Given the description of an element on the screen output the (x, y) to click on. 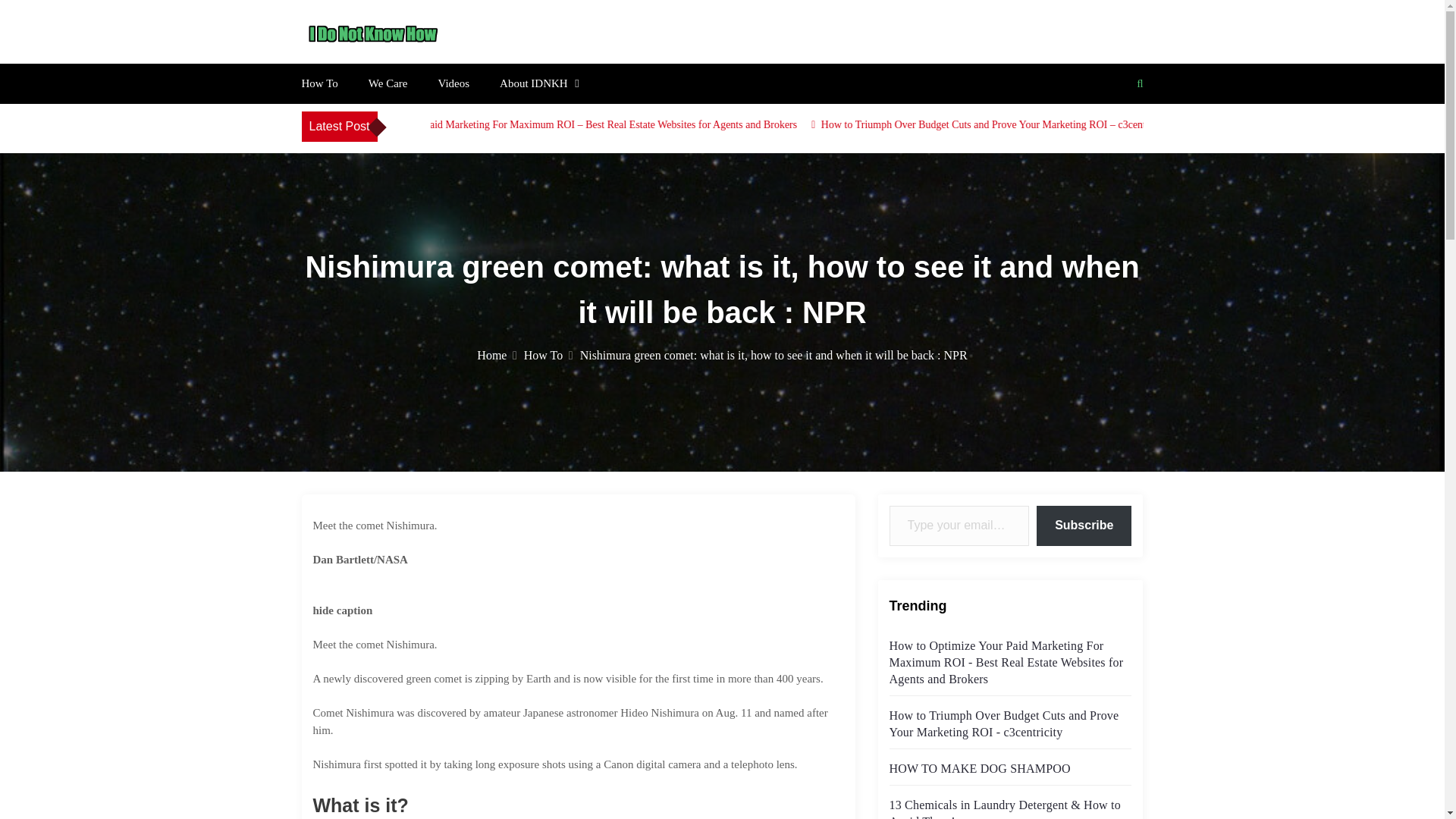
Home (496, 354)
Videos (453, 82)
About IDNKH (533, 82)
How To (319, 82)
Please fill in this field. (958, 526)
How To (548, 354)
We Care (387, 82)
